Given the description of an element on the screen output the (x, y) to click on. 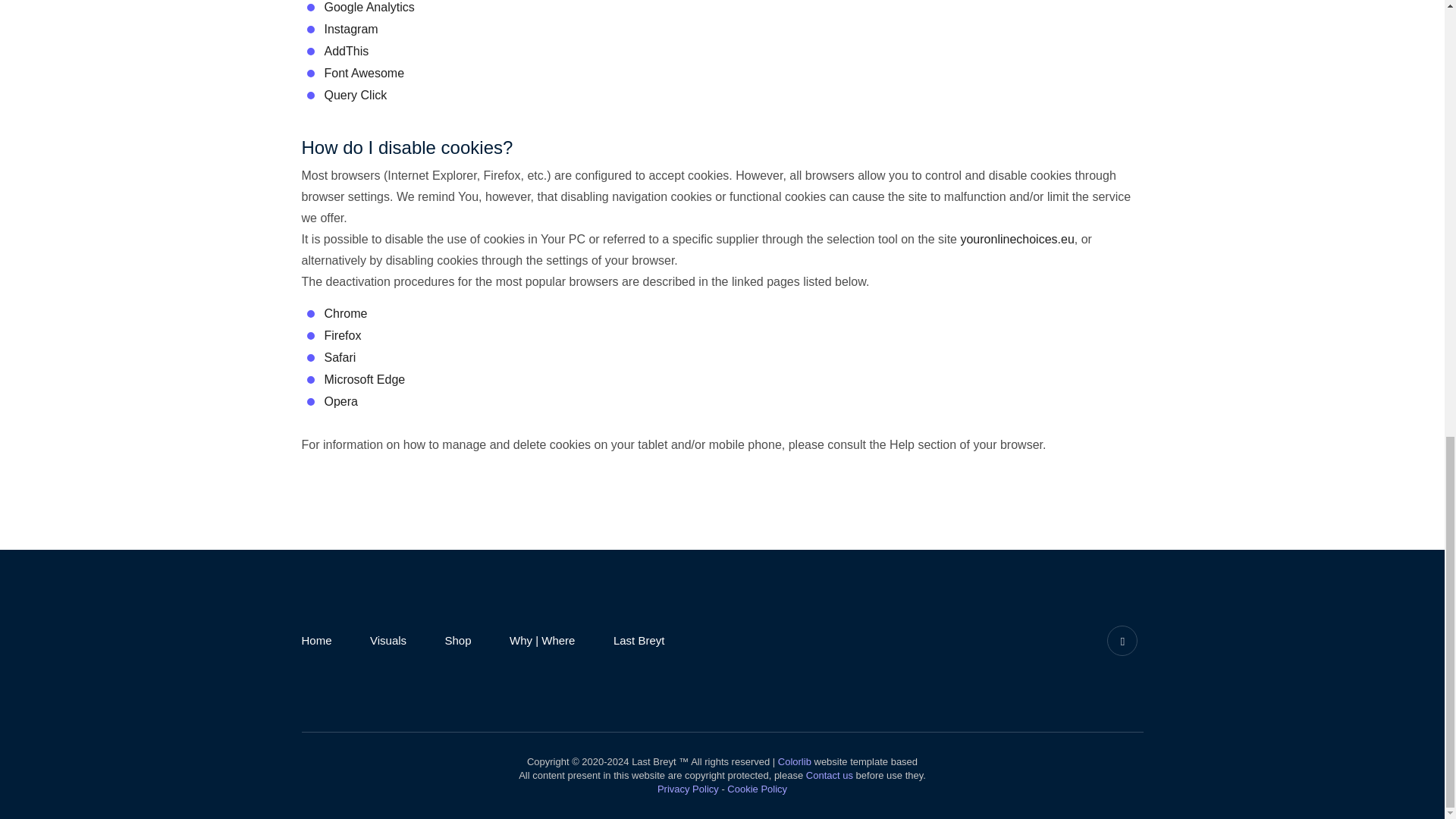
Shop (458, 640)
AddThis (346, 51)
Colorlib (793, 760)
Opera (341, 400)
Homepage (316, 640)
Instagram (1121, 639)
youronlinechoices.eu (1016, 238)
Privacy Policy (688, 788)
Safari (340, 357)
Cookie Policy (756, 788)
Font Awesome (364, 72)
Last Breyt (638, 640)
Firefox (342, 335)
Google Analytics (369, 6)
Microsoft Edge (365, 379)
